Given the description of an element on the screen output the (x, y) to click on. 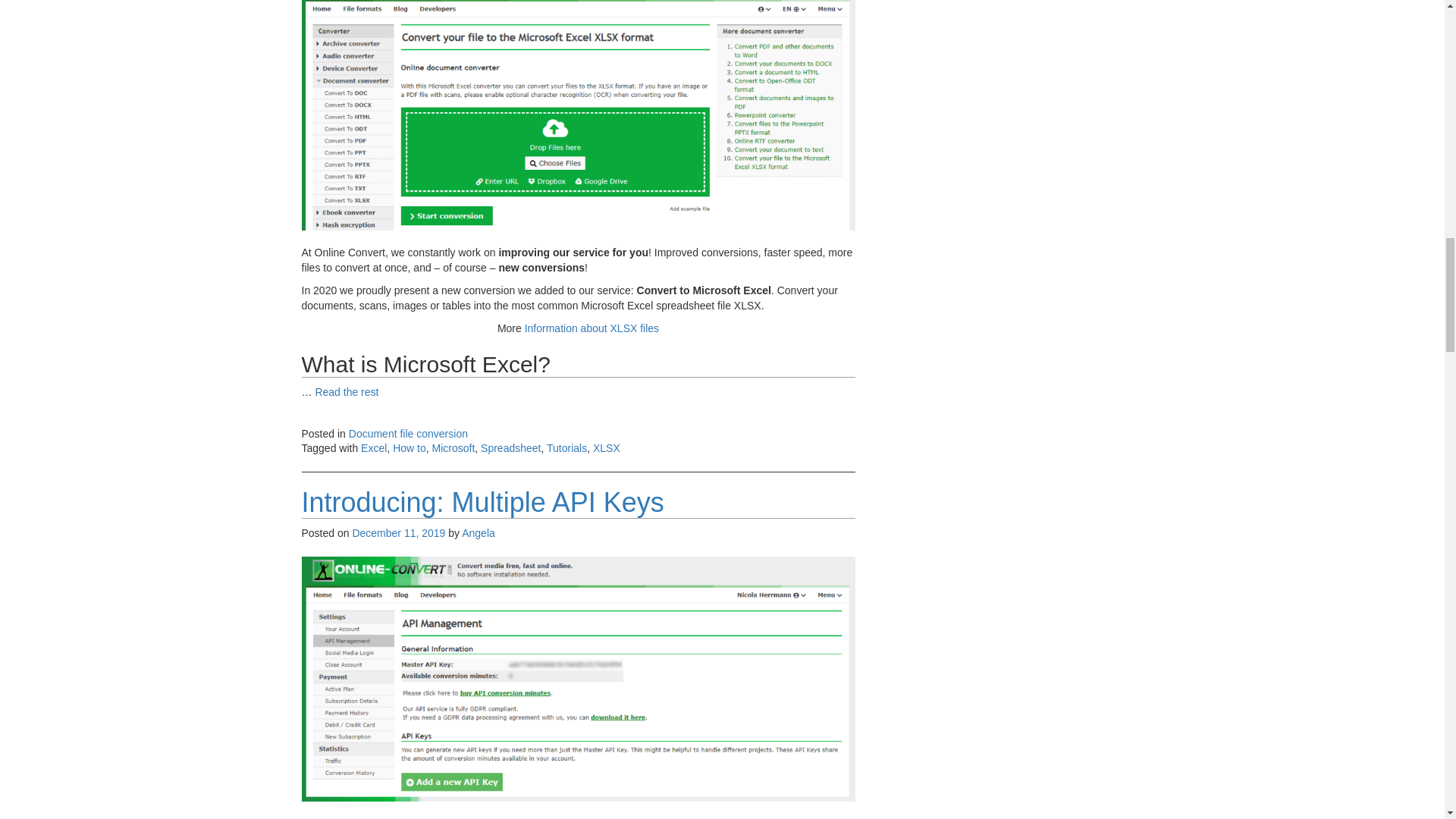
15:44 (398, 532)
View all posts by Angela (478, 532)
